Given the description of an element on the screen output the (x, y) to click on. 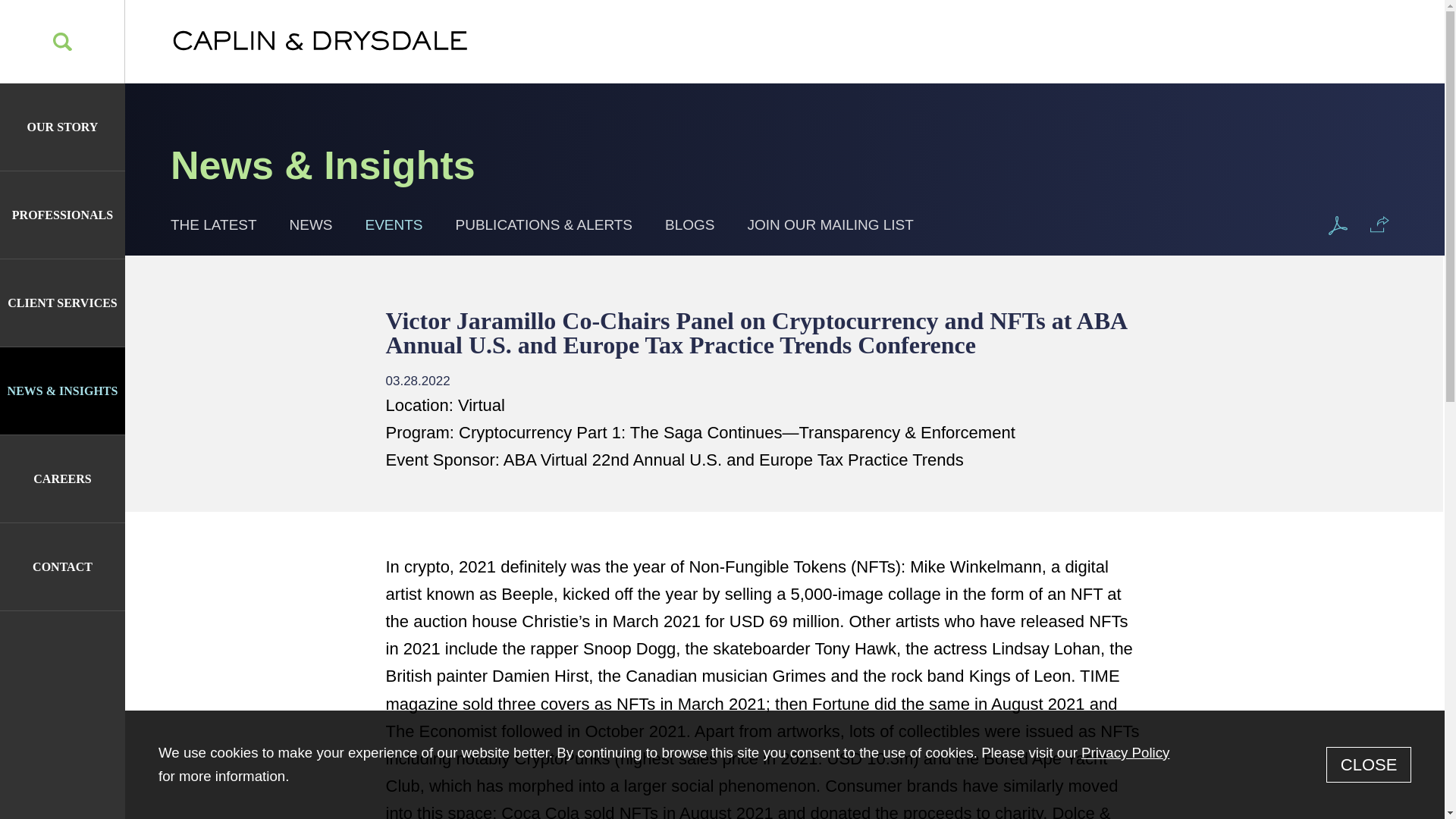
CLIENT SERVICES (62, 302)
Main Menu (669, 21)
PROFESSIONALS (62, 214)
Main Content (660, 21)
Share (1379, 224)
OUR STORY (62, 126)
Menu (669, 21)
CAREERS (62, 478)
CONTACT (62, 566)
